Given the description of an element on the screen output the (x, y) to click on. 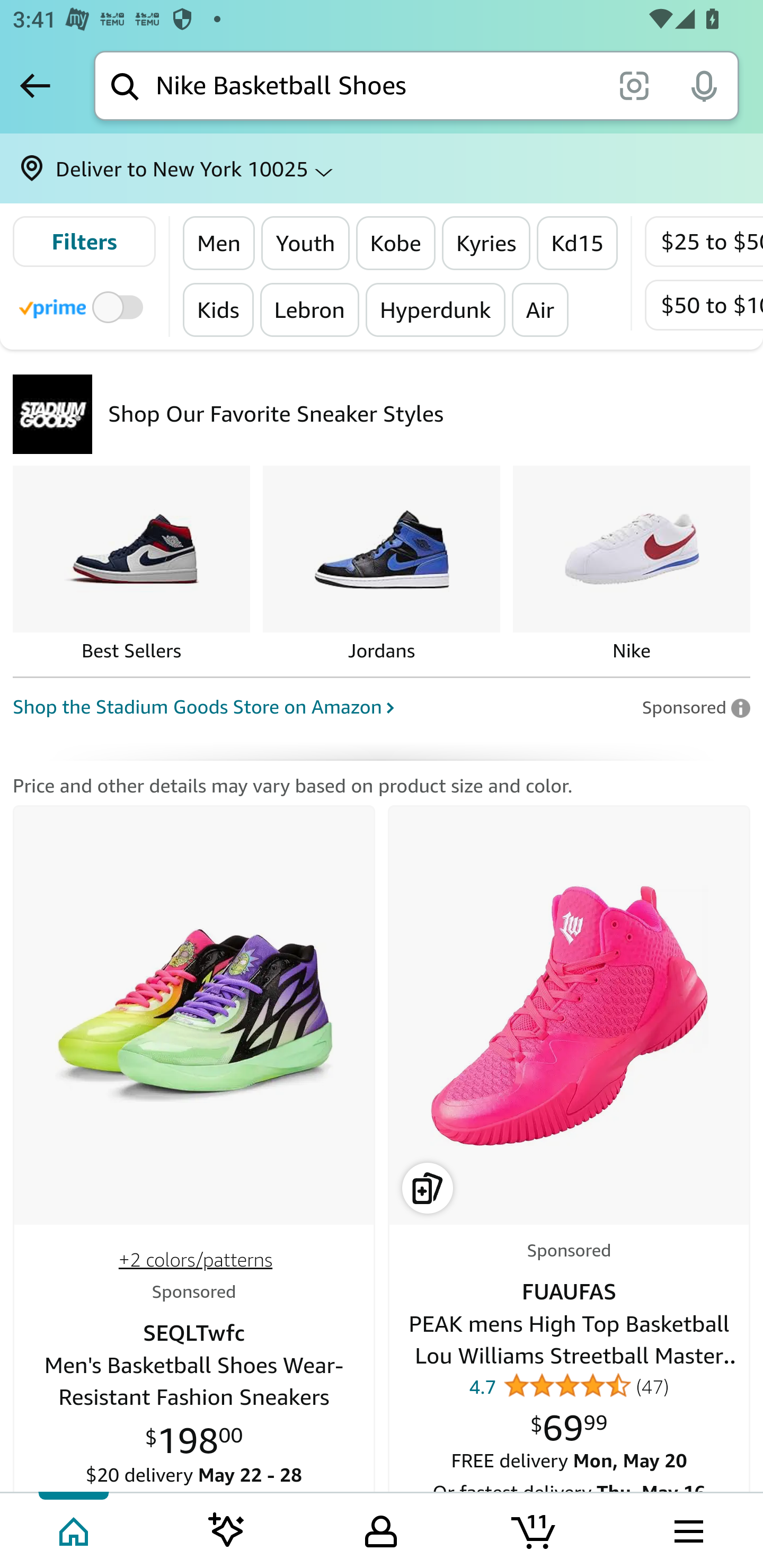
Back (35, 85)
scan it (633, 85)
Deliver to New York 10025 ⌵ (381, 168)
Filters (83, 241)
Men (219, 242)
Youth (304, 242)
Kobe (395, 242)
Kyries (486, 242)
Kd15 (576, 242)
$25 to $50 (703, 241)
Toggle to filter by Prime products Prime Eligible (83, 306)
$50 to $100 (703, 304)
Kids (218, 309)
Lebron (309, 309)
Hyperdunk (434, 309)
Air (539, 309)
Go to store page for "Best Sellers". (131, 564)
